Given the description of an element on the screen output the (x, y) to click on. 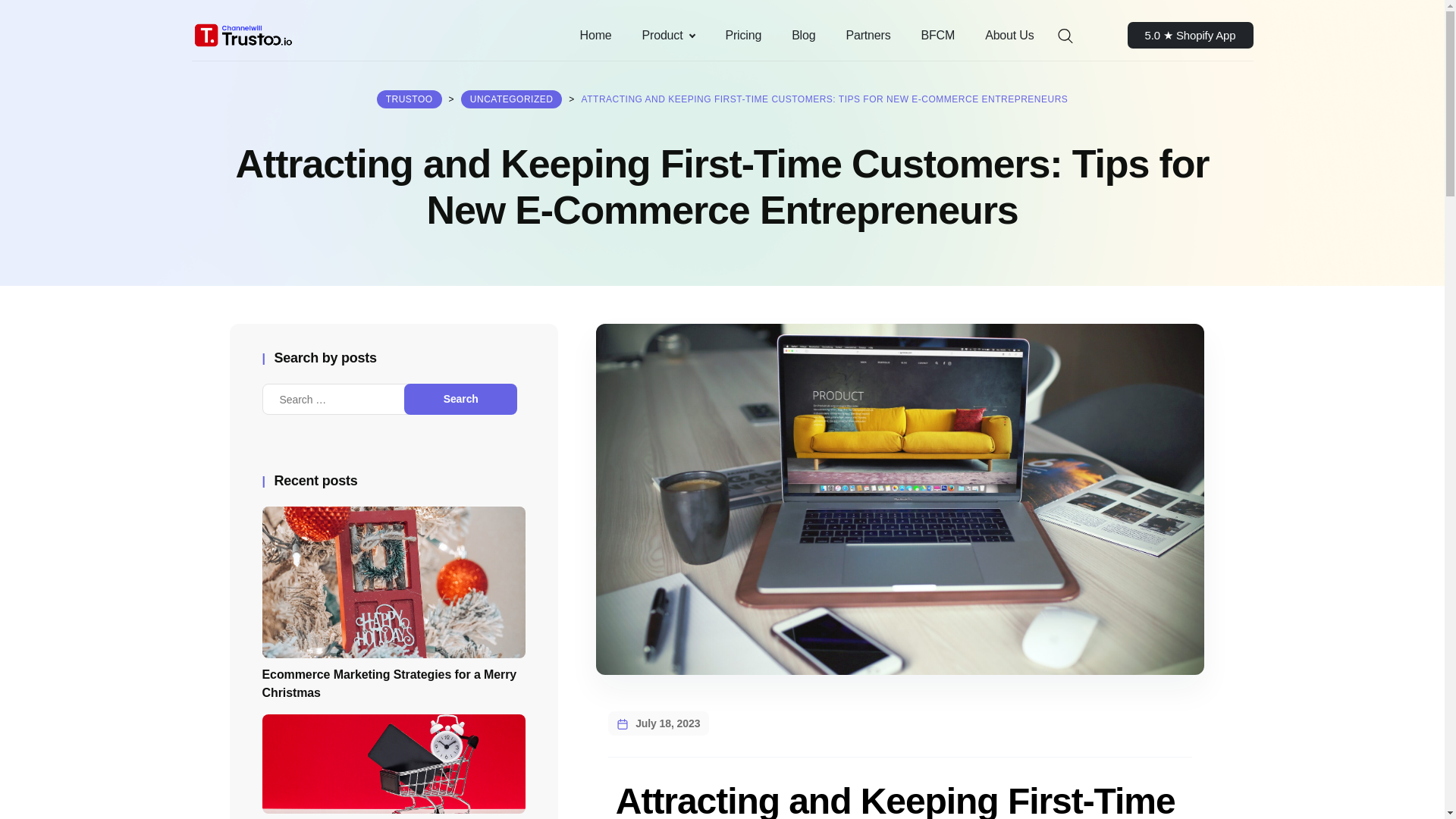
Search (460, 399)
BFCM (938, 34)
Blog (802, 34)
Go to Trustoo. (409, 99)
About Us (1008, 34)
Ecommerce Marketing Strategies for a Merry Christmas (393, 637)
Search (460, 399)
Pricing (743, 34)
Product (668, 34)
Partners (867, 34)
Home (595, 34)
Search (460, 399)
TRUSTOO (409, 99)
UNCATEGORIZED (511, 99)
Search for: (346, 399)
